Given the description of an element on the screen output the (x, y) to click on. 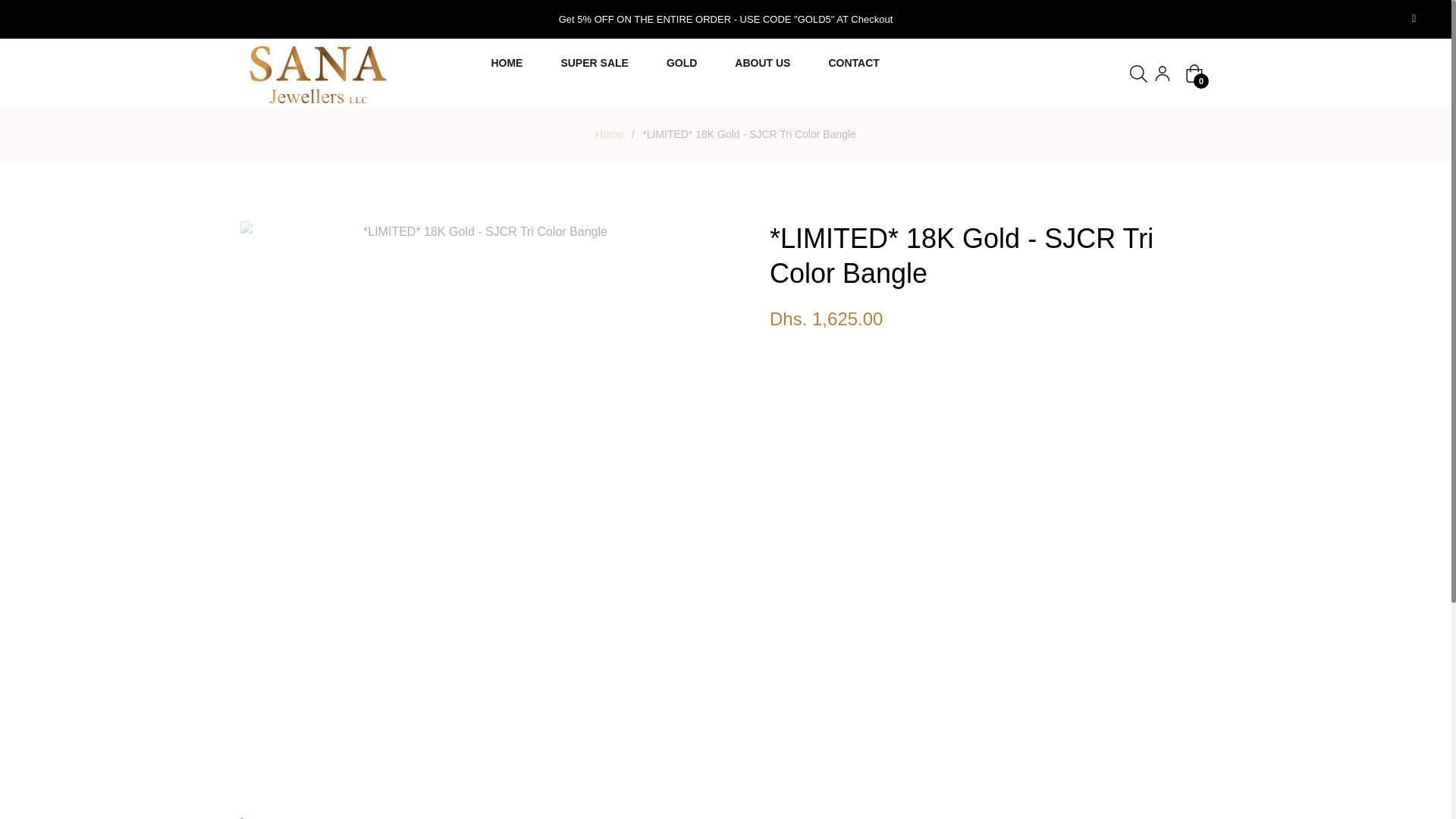
ABOUT US (762, 62)
Shopping Cart (1194, 73)
CONTACT (853, 62)
Home (609, 133)
SUPER SALE (593, 62)
GOLD (681, 62)
DESCRIPTION (304, 817)
Home (609, 133)
HOME (506, 62)
